Given the description of an element on the screen output the (x, y) to click on. 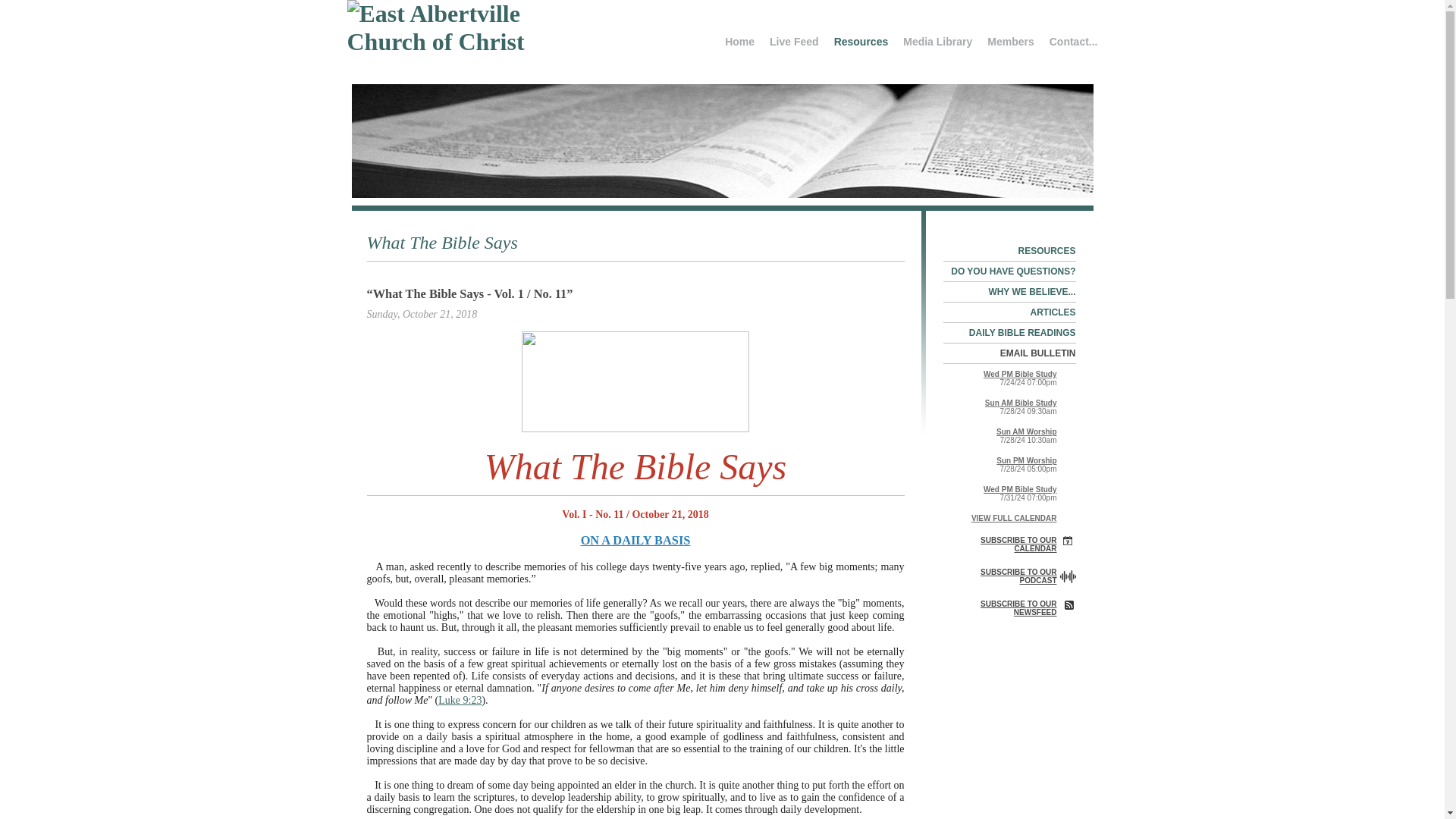
Home (739, 41)
Contact... (1069, 41)
Live Feed (794, 41)
Resources (861, 41)
Media Library (937, 41)
Members (1010, 41)
